Given the description of an element on the screen output the (x, y) to click on. 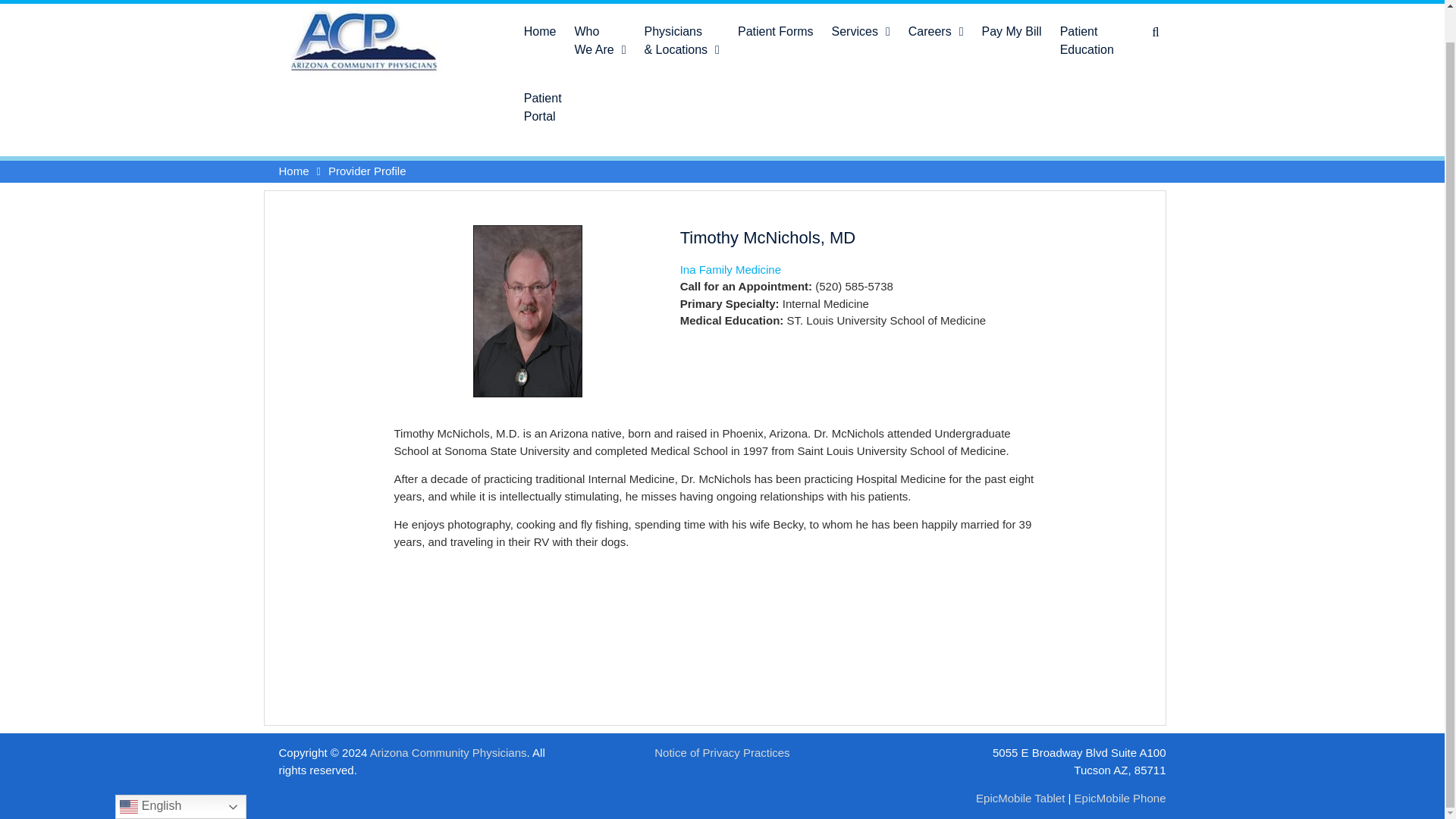
Careers (935, 28)
Home (540, 28)
Patient Forms (775, 28)
Services (860, 28)
